Given the description of an element on the screen output the (x, y) to click on. 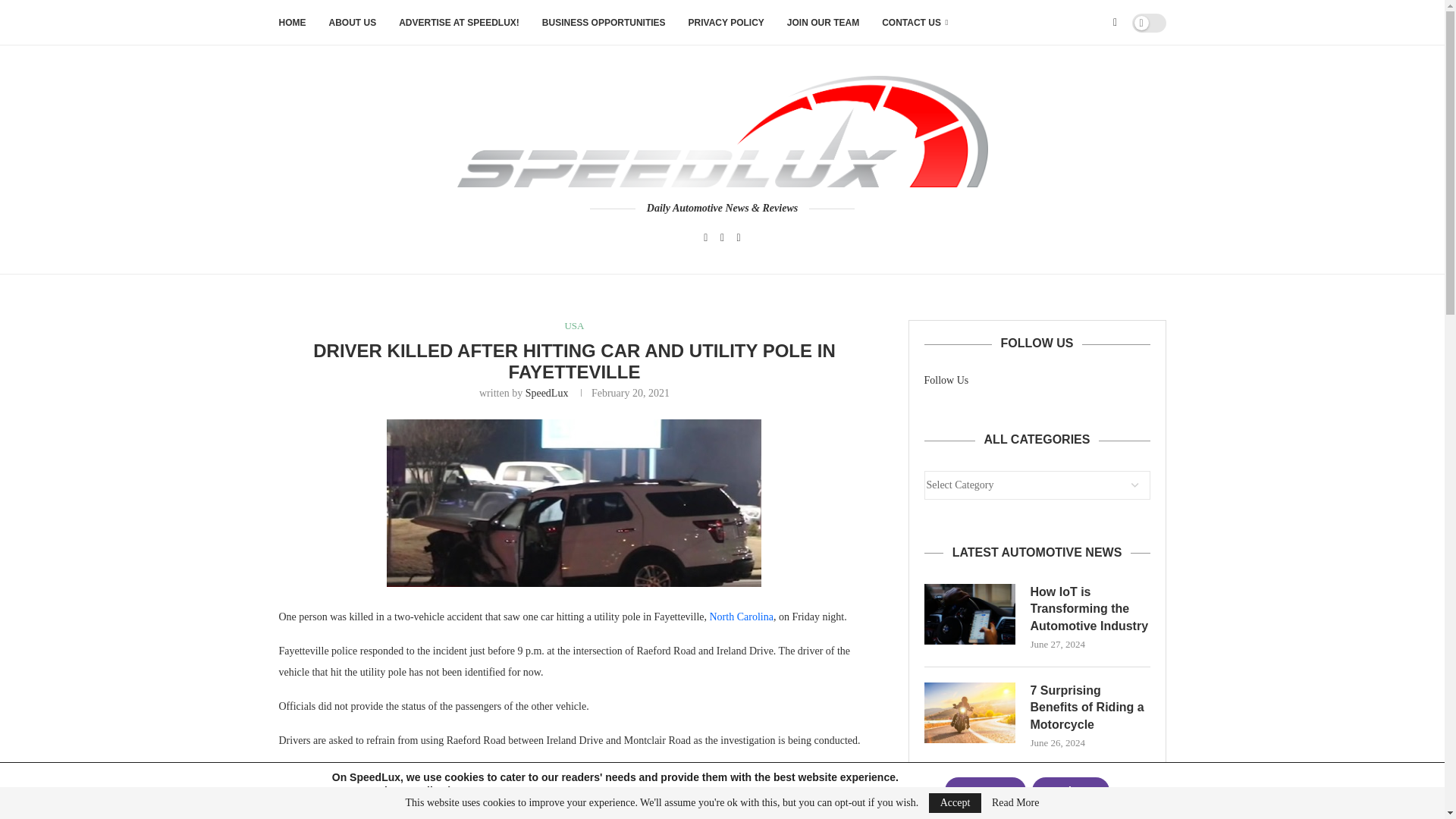
BUSINESS OPPORTUNITIES (603, 22)
USA (573, 326)
CONTACT US (915, 22)
ABOUT US (353, 22)
North Carolina (741, 616)
SpeedLux (547, 392)
ADVERTISE AT SPEEDLUX! (458, 22)
PRIVACY POLICY (726, 22)
car-crash-Fayetteville-North-Carolina (574, 503)
HOME (292, 22)
JOIN OUR TEAM (823, 22)
